Given the description of an element on the screen output the (x, y) to click on. 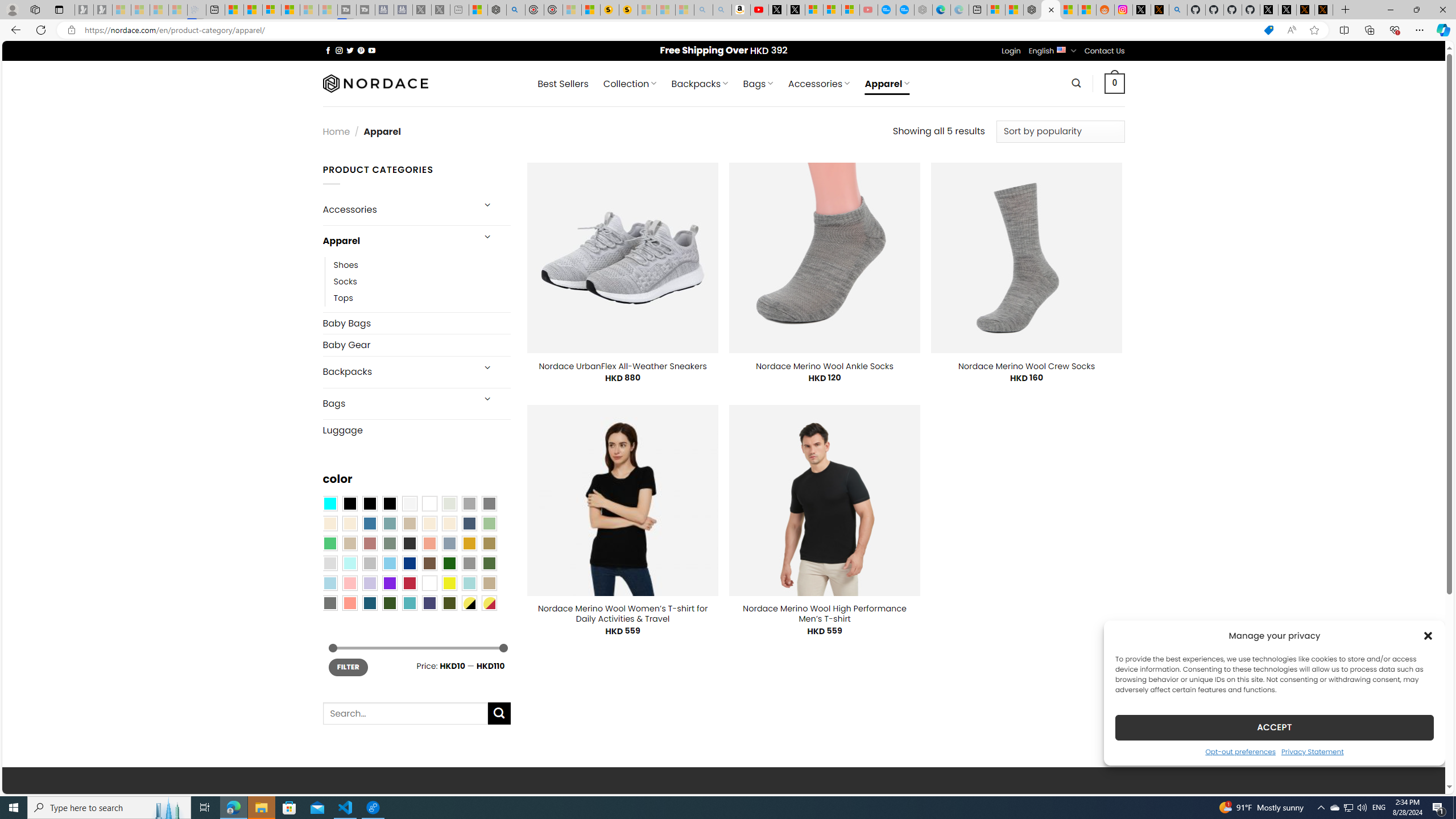
Yellow-Black (468, 602)
Baby Gear (416, 345)
Yellow (449, 582)
Sky Blue (389, 562)
New tab - Sleeping (459, 9)
github - Search (1178, 9)
Overview (271, 9)
ACCEPT (1274, 727)
Dark Green (449, 562)
Khaki (488, 582)
